Given the description of an element on the screen output the (x, y) to click on. 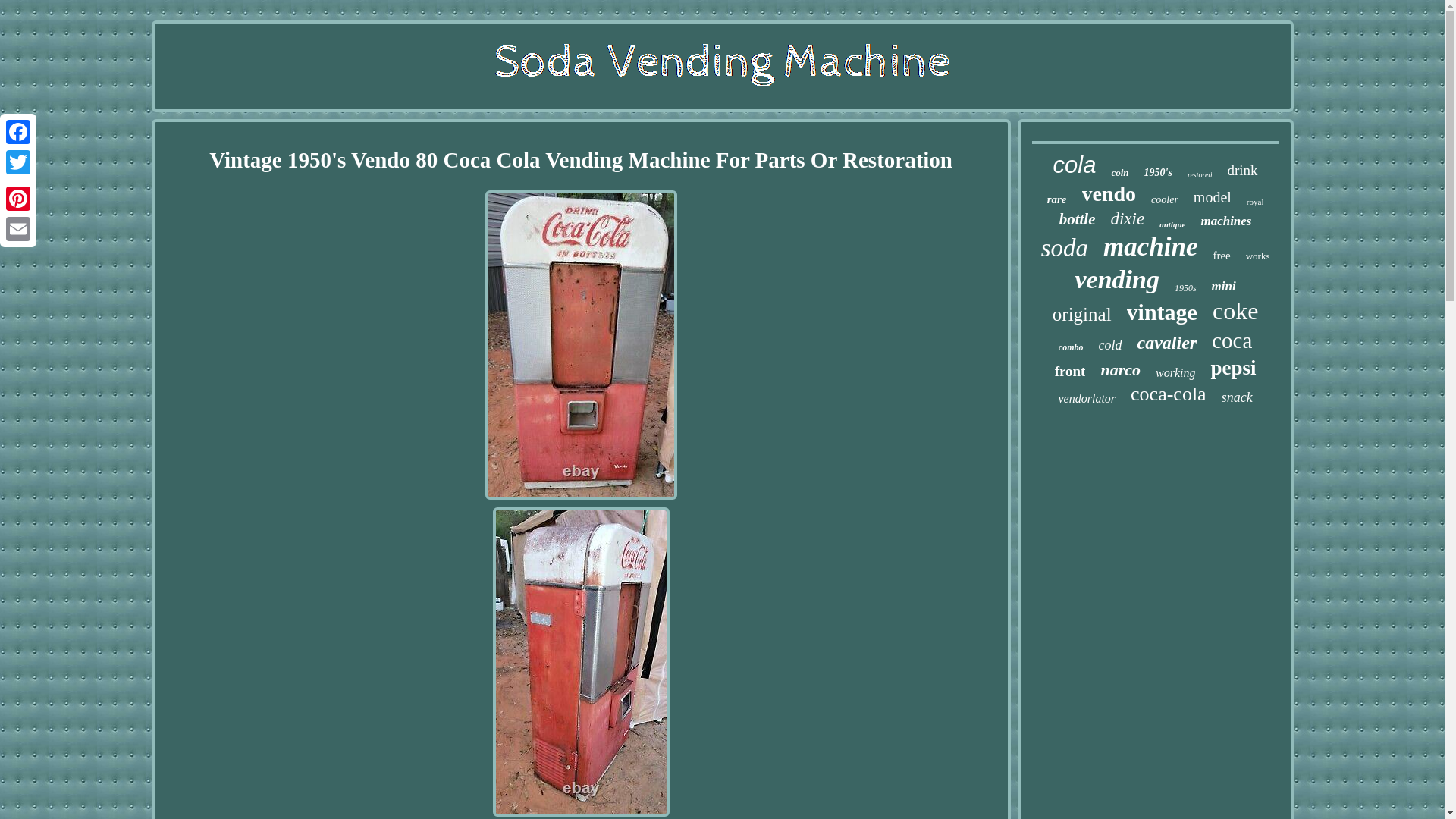
coke (1234, 311)
original (1082, 314)
1950's (1158, 173)
Facebook (17, 132)
mini (1223, 286)
cavalier (1166, 342)
combo (1070, 347)
coin (1119, 173)
machine (1149, 246)
vending (1116, 279)
